Given the description of an element on the screen output the (x, y) to click on. 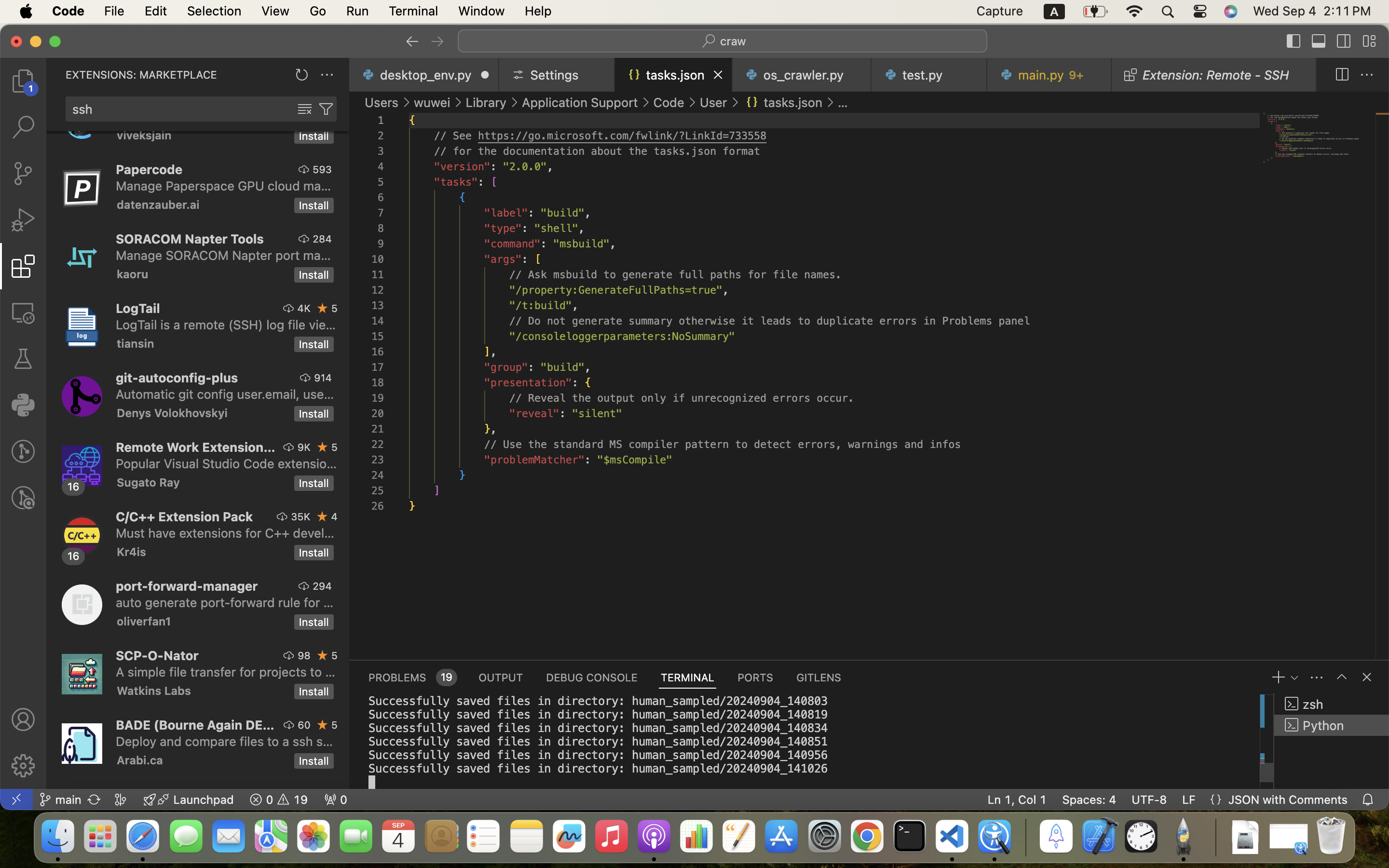
 Element type: AXGroup (23, 765)
… Element type: AXStaticText (842, 101)
 0 Element type: AXButton (335, 799)
 Element type: AXGroup (23, 719)
 Element type: AXGroup (23, 127)
